Given the description of an element on the screen output the (x, y) to click on. 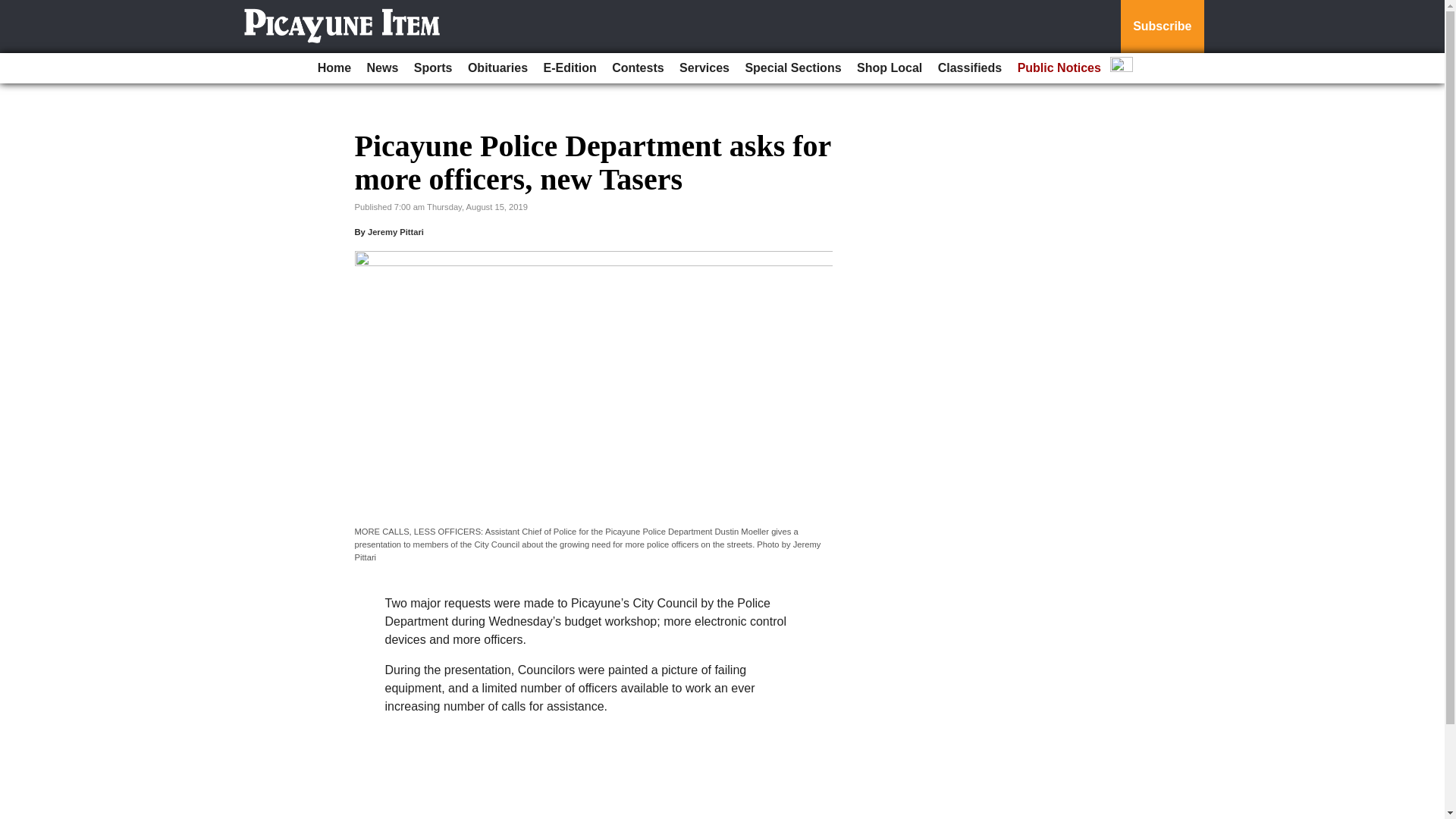
Sports (432, 68)
Home (333, 68)
Subscribe (1162, 26)
Shop Local (889, 68)
News (382, 68)
Obituaries (497, 68)
Services (703, 68)
Classifieds (969, 68)
E-Edition (569, 68)
Special Sections (792, 68)
